Given the description of an element on the screen output the (x, y) to click on. 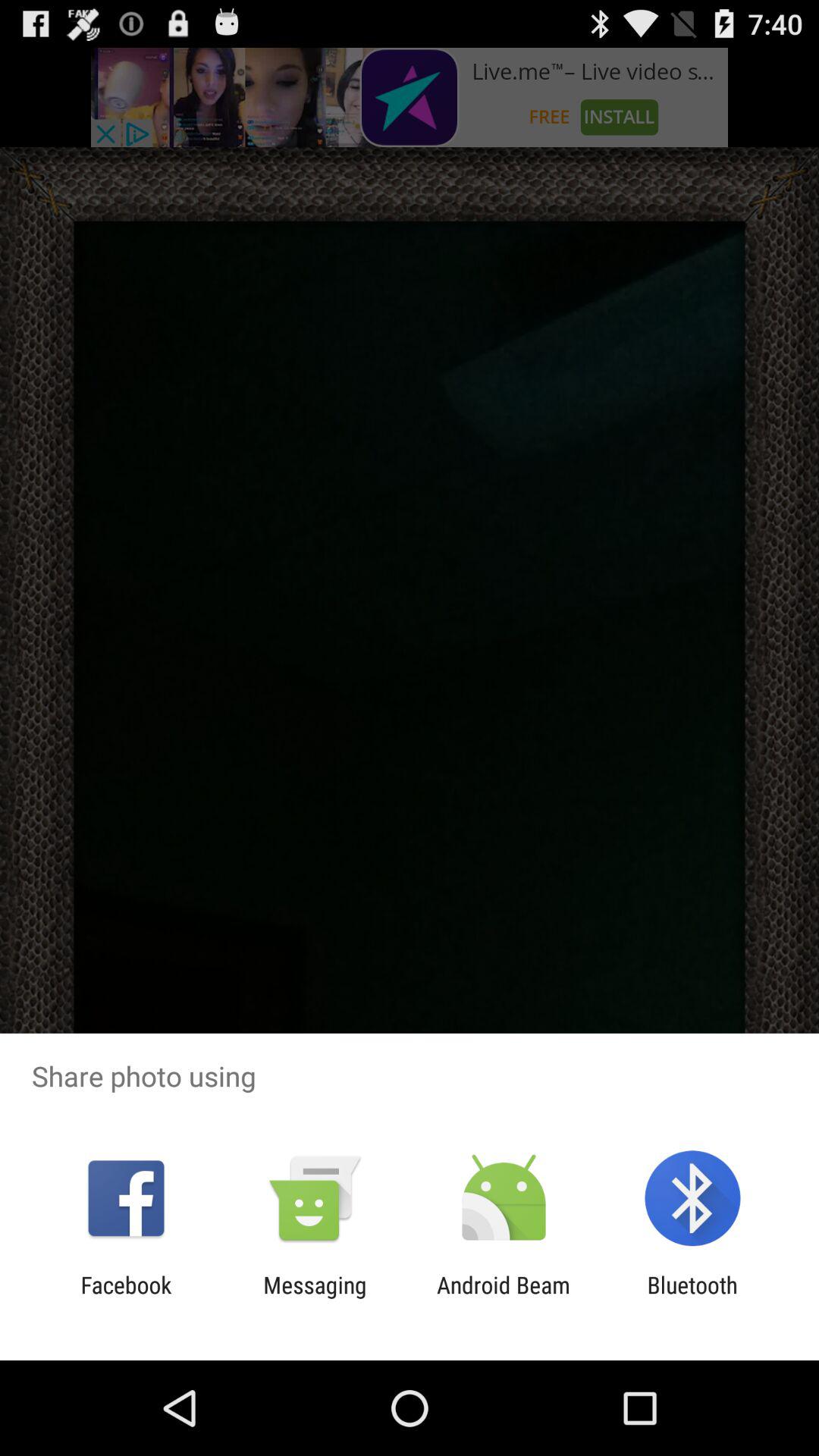
jump to the facebook item (125, 1298)
